Given the description of an element on the screen output the (x, y) to click on. 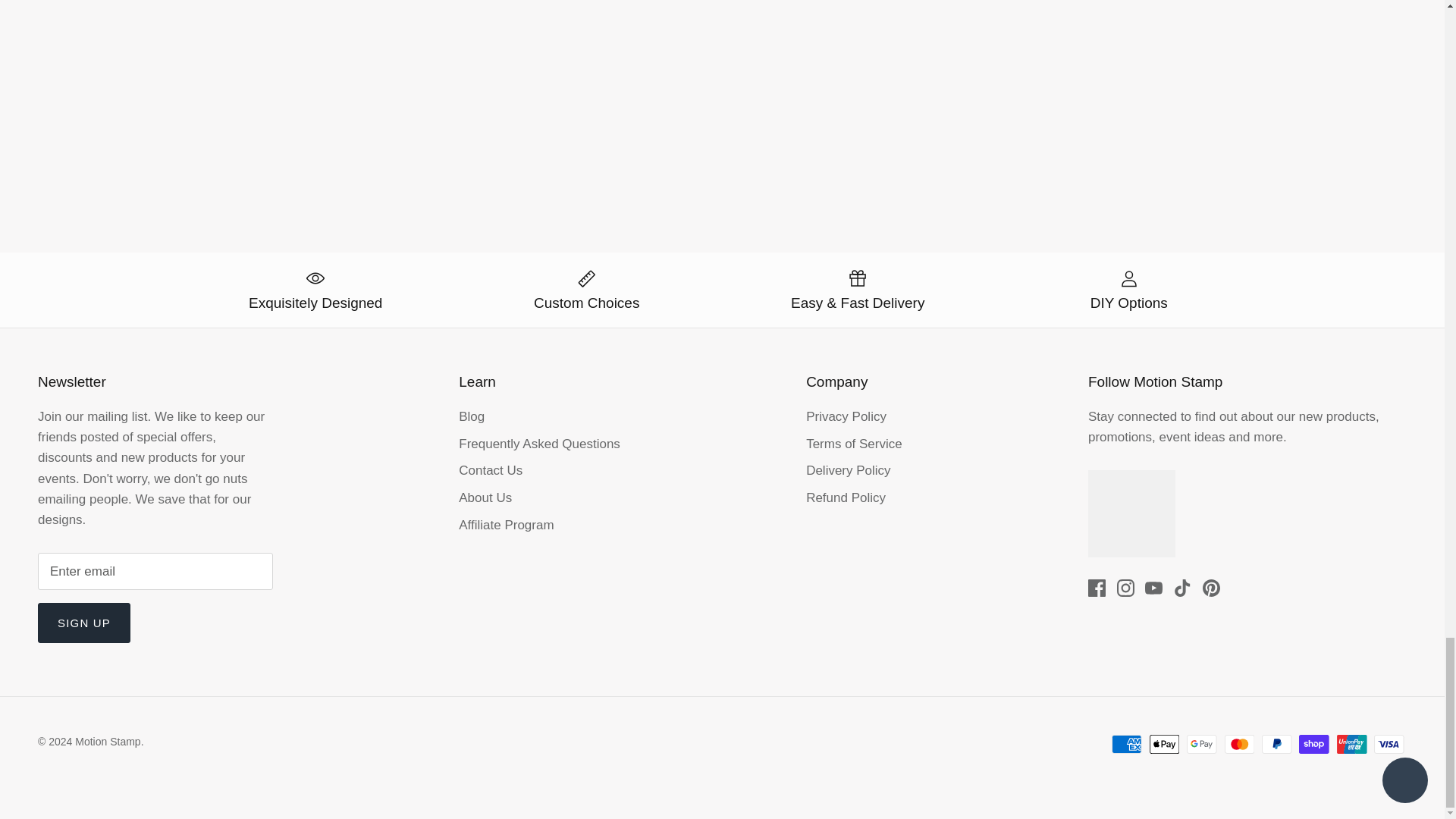
American Express (1126, 743)
Facebook (1096, 588)
Instagram (1125, 588)
Google Pay (1201, 743)
Youtube (1152, 588)
Pinterest (1211, 588)
Apple Pay (1164, 743)
